Given the description of an element on the screen output the (x, y) to click on. 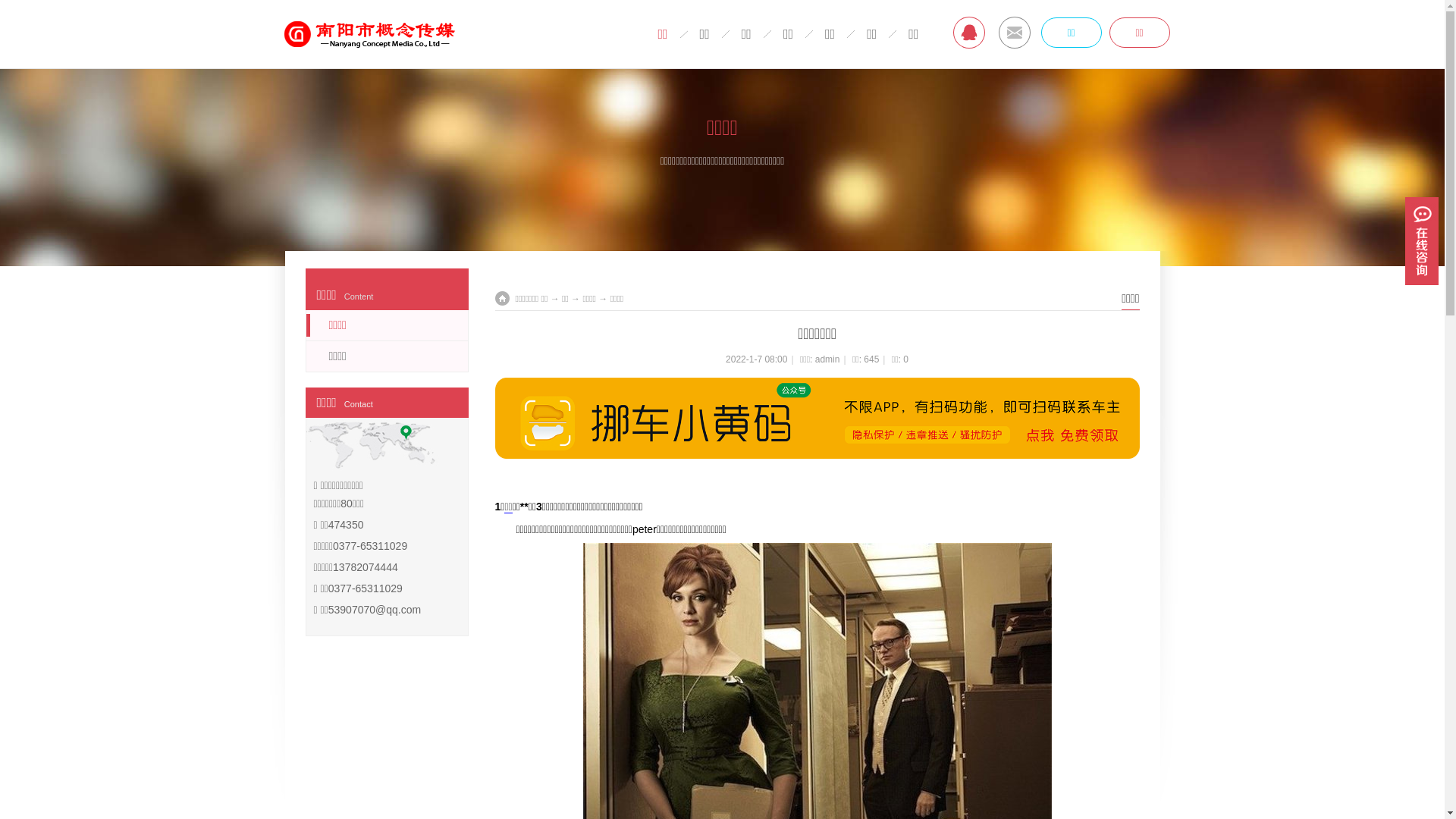
MAIL Element type: text (1014, 32)
admin Element type: text (827, 359)
53907070@qq.com Element type: text (374, 609)
